Given the description of an element on the screen output the (x, y) to click on. 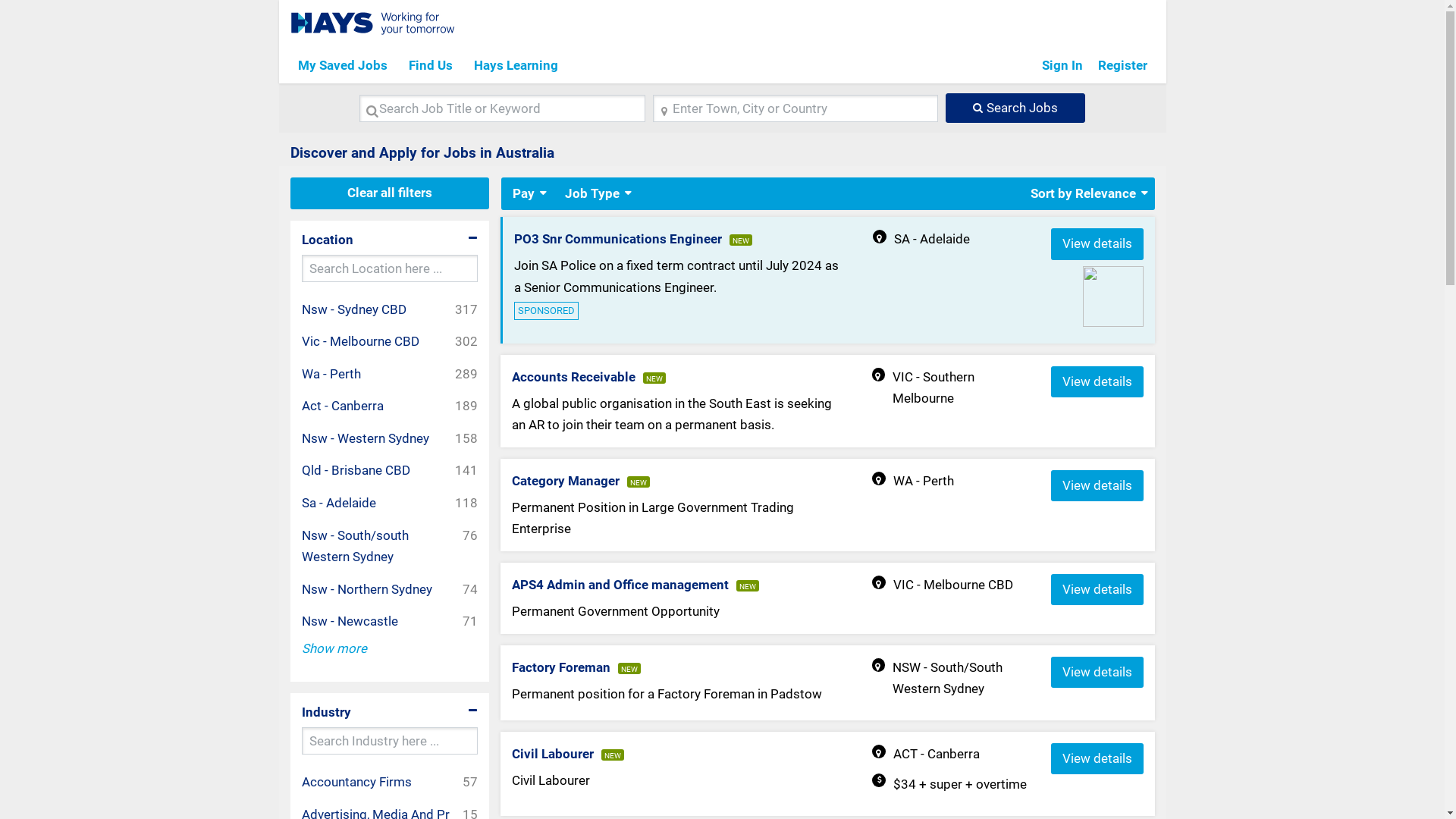
View details Element type: text (1097, 589)
Hays Learning Element type: text (514, 65)
Accountancy Firms Element type: text (362, 781)
View details Element type: text (1097, 485)
Pay Element type: text (522, 193)
PO3 Snr Communications Engineer Element type: text (617, 238)
Civil Labourer Element type: text (552, 753)
View details Element type: text (1097, 671)
Factory Foreman Element type: text (560, 666)
Find Us Element type: text (429, 65)
Nsw - Northern Sydney Element type: text (372, 589)
Category Manager Element type: text (565, 480)
Sort by Relevance Element type: text (1083, 193)
Act - Canberra Element type: text (348, 405)
Vic - Melbourne CBD Element type: text (365, 341)
Wa - Perth Element type: text (336, 373)
Clear all filters Element type: text (389, 192)
Sign In Element type: text (1062, 65)
View details Element type: text (1097, 243)
Register Element type: text (1122, 65)
Nsw - South/south Western Sydney Element type: text (382, 545)
Accounts Receivable Element type: text (573, 376)
Show more Element type: text (334, 648)
Nsw - Western Sydney Element type: text (370, 438)
Nsw - Newcastle Element type: text (355, 621)
Search Jobs Element type: text (1014, 107)
View details Element type: text (1097, 758)
APS4 Admin and Office management Element type: text (619, 584)
Nsw - Sydney CBD Element type: text (359, 309)
My Saved Jobs Element type: text (341, 65)
View details Element type: text (1097, 381)
Qld - Brisbane CBD Element type: text (361, 470)
Sa - Adelaide Element type: text (344, 502)
Job Type Element type: text (591, 193)
